Given the description of an element on the screen output the (x, y) to click on. 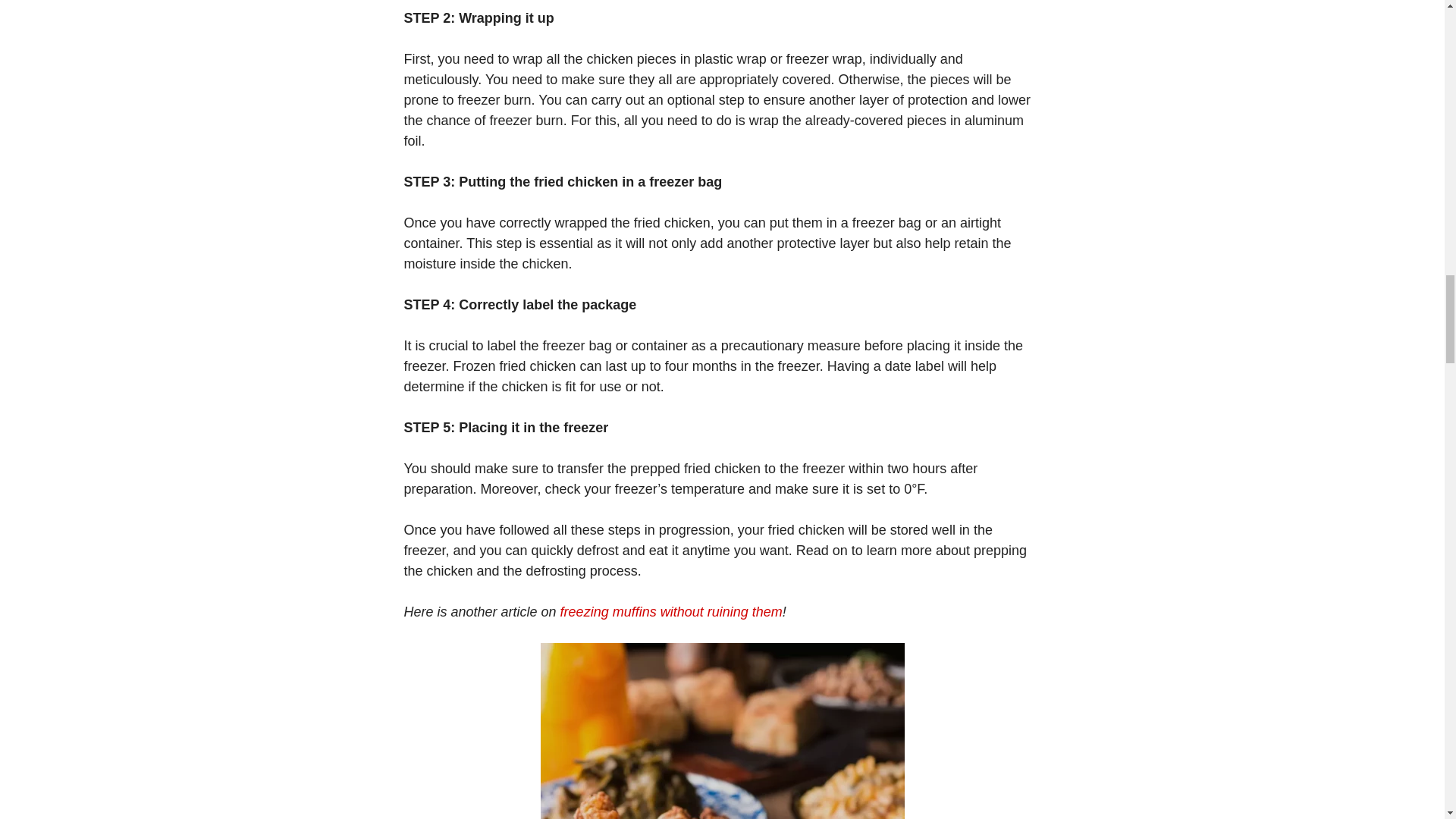
freezing muffins without ruining them (671, 611)
